Given the description of an element on the screen output the (x, y) to click on. 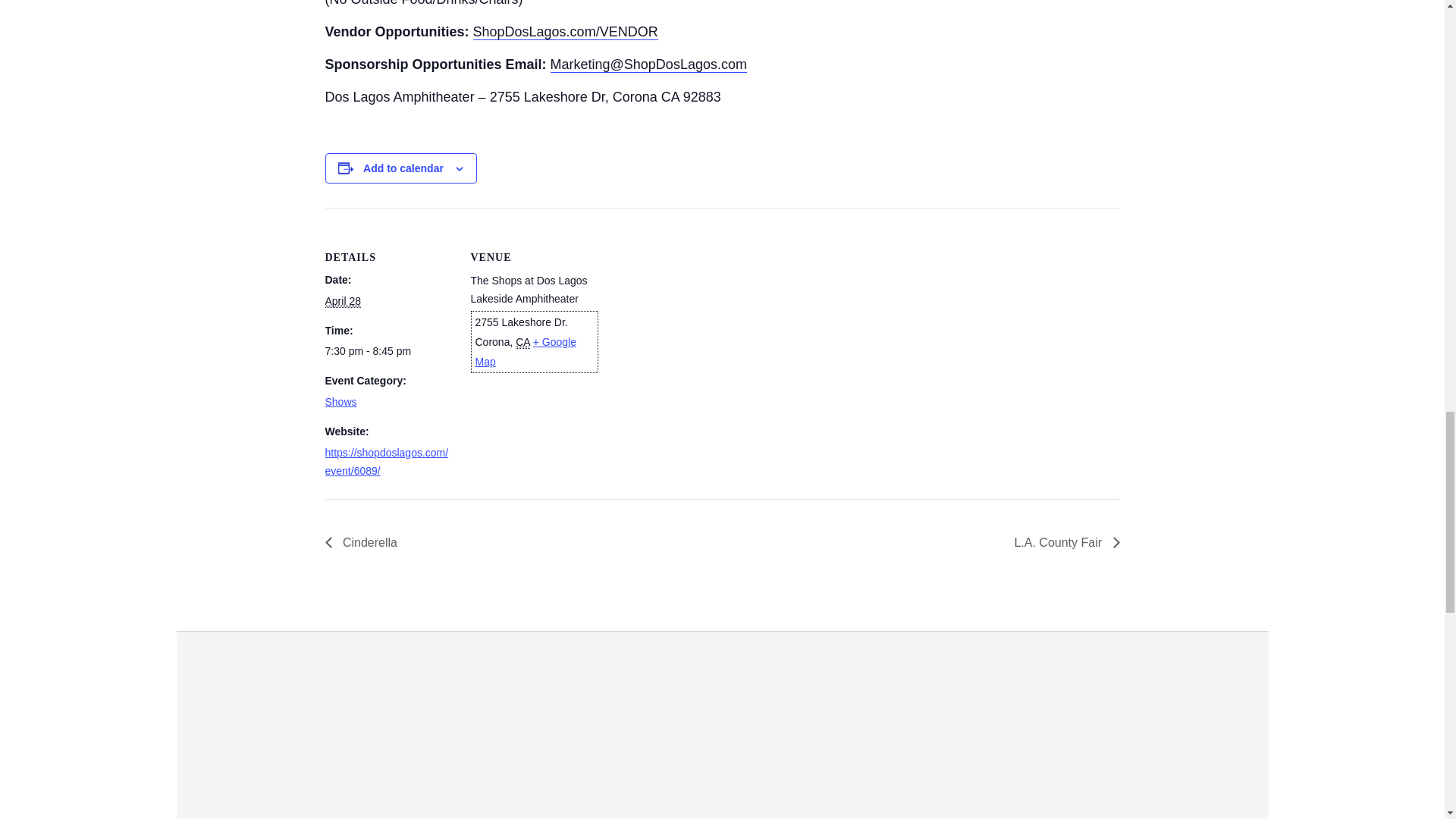
Click to view a Google Map (525, 351)
2024-04-28 (387, 351)
2024-04-28 (341, 300)
California (522, 341)
